Given the description of an element on the screen output the (x, y) to click on. 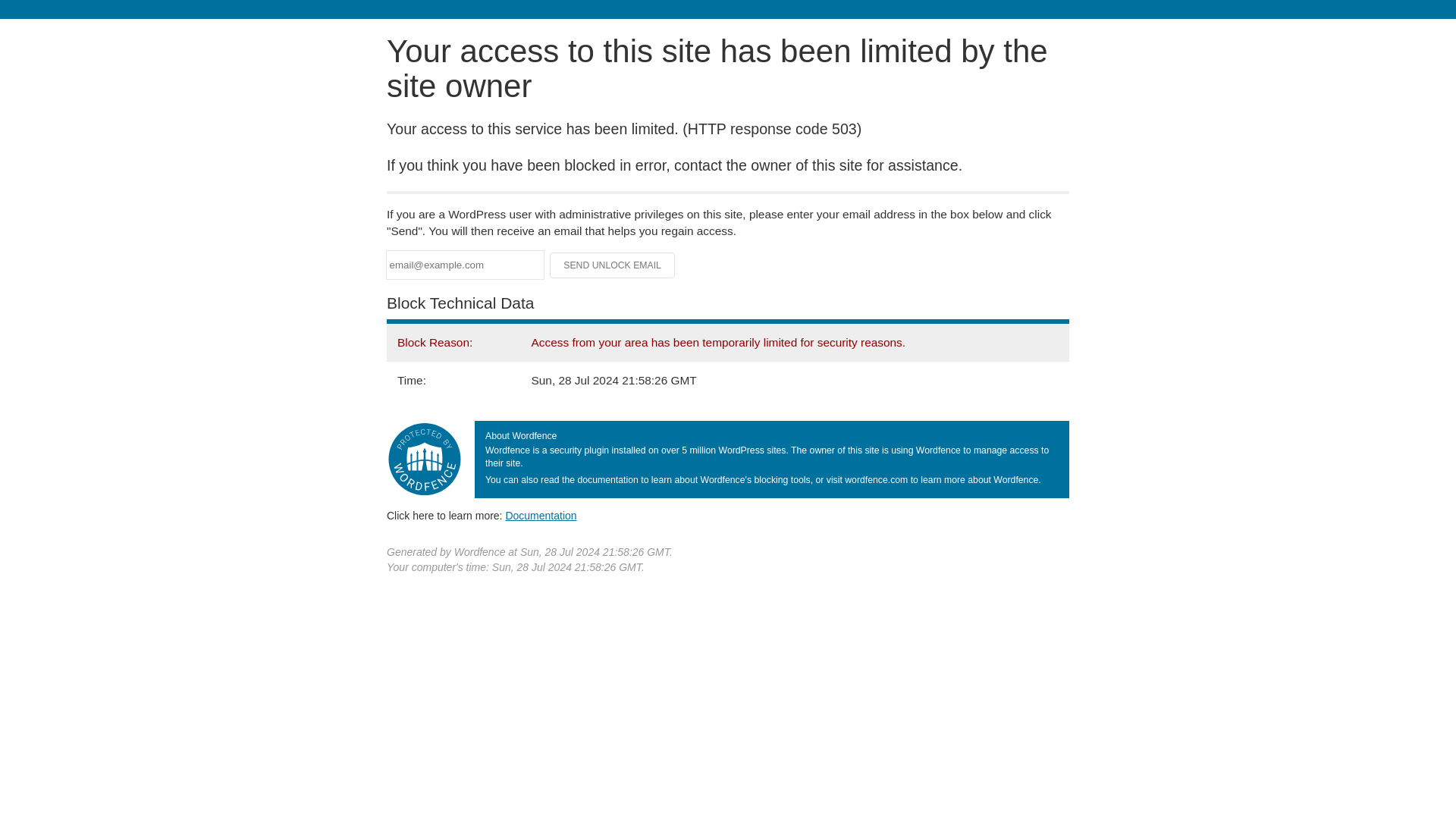
Send Unlock Email (612, 265)
Documentation (540, 515)
Send Unlock Email (612, 265)
